Given the description of an element on the screen output the (x, y) to click on. 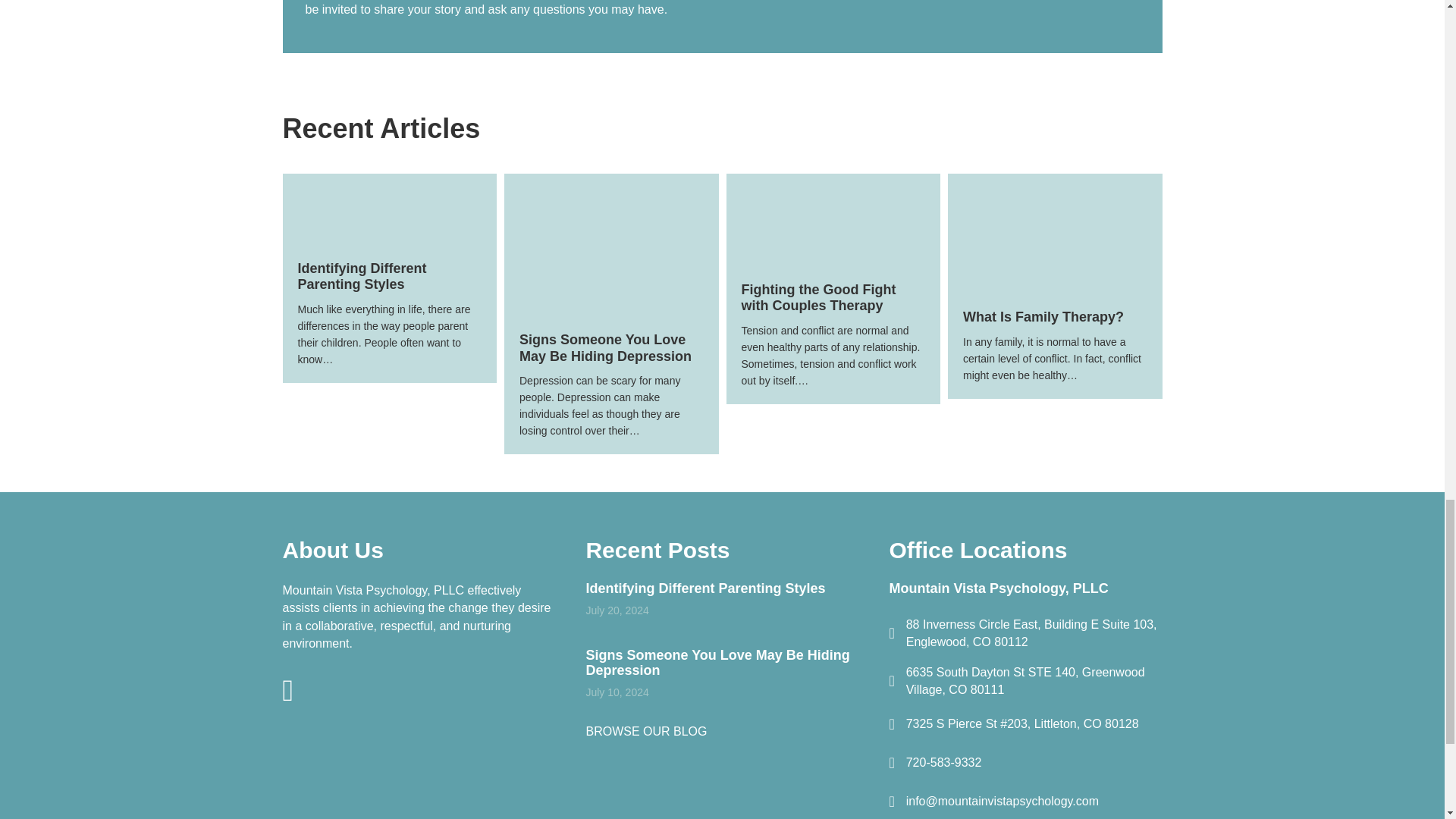
Identifying Different Parenting Styles (389, 208)
What Is Family Therapy? (1043, 316)
Signs Someone You Love May Be Hiding Depression (605, 347)
Identifying Different Parenting Styles (361, 276)
What Is Family Therapy? (1054, 232)
Fighting the Good Fight with Couples Therapy (833, 219)
Signs Someone You Love May Be Hiding Depression (611, 244)
Signs Someone You Love May Be Hiding Depression (716, 662)
Fighting the Good Fight with Couples Therapy (818, 297)
Identifying Different Parenting Styles (705, 588)
